Given the description of an element on the screen output the (x, y) to click on. 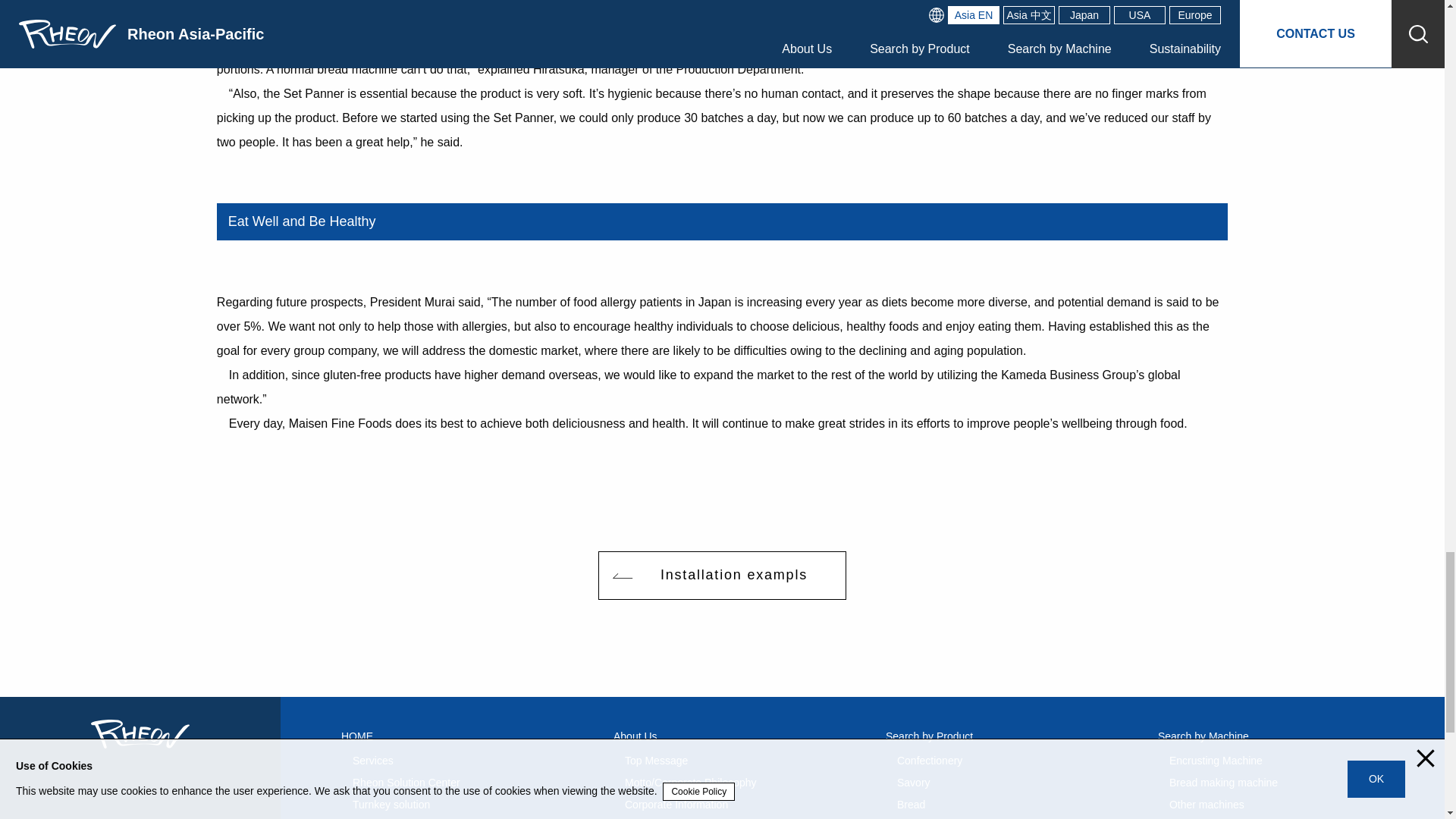
Services (372, 760)
Rheon Solution Center (406, 782)
HOME (362, 736)
Installation exampls (721, 575)
